Given the description of an element on the screen output the (x, y) to click on. 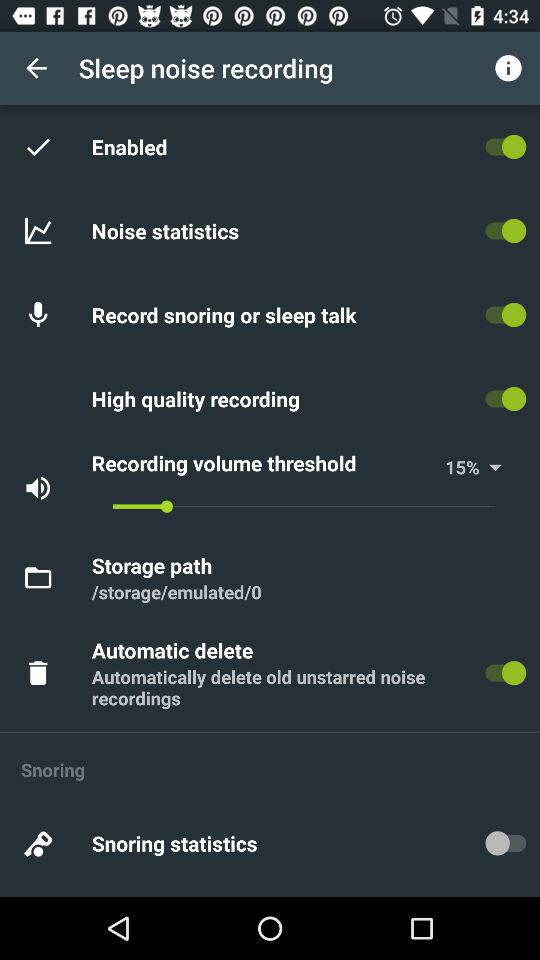
turn on the 15 item (455, 466)
